Given the description of an element on the screen output the (x, y) to click on. 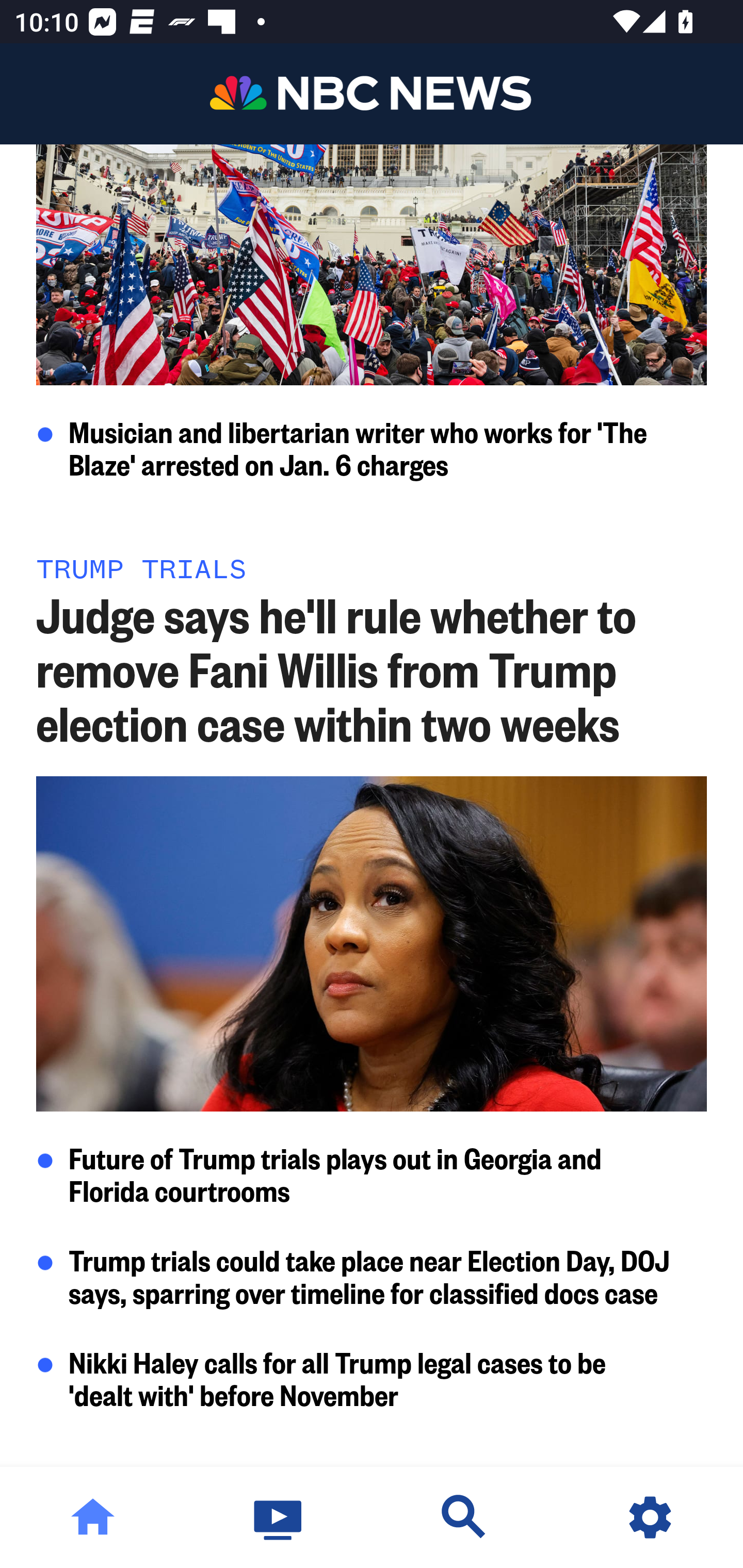
Watch (278, 1517)
Discover (464, 1517)
Settings (650, 1517)
